Given the description of an element on the screen output the (x, y) to click on. 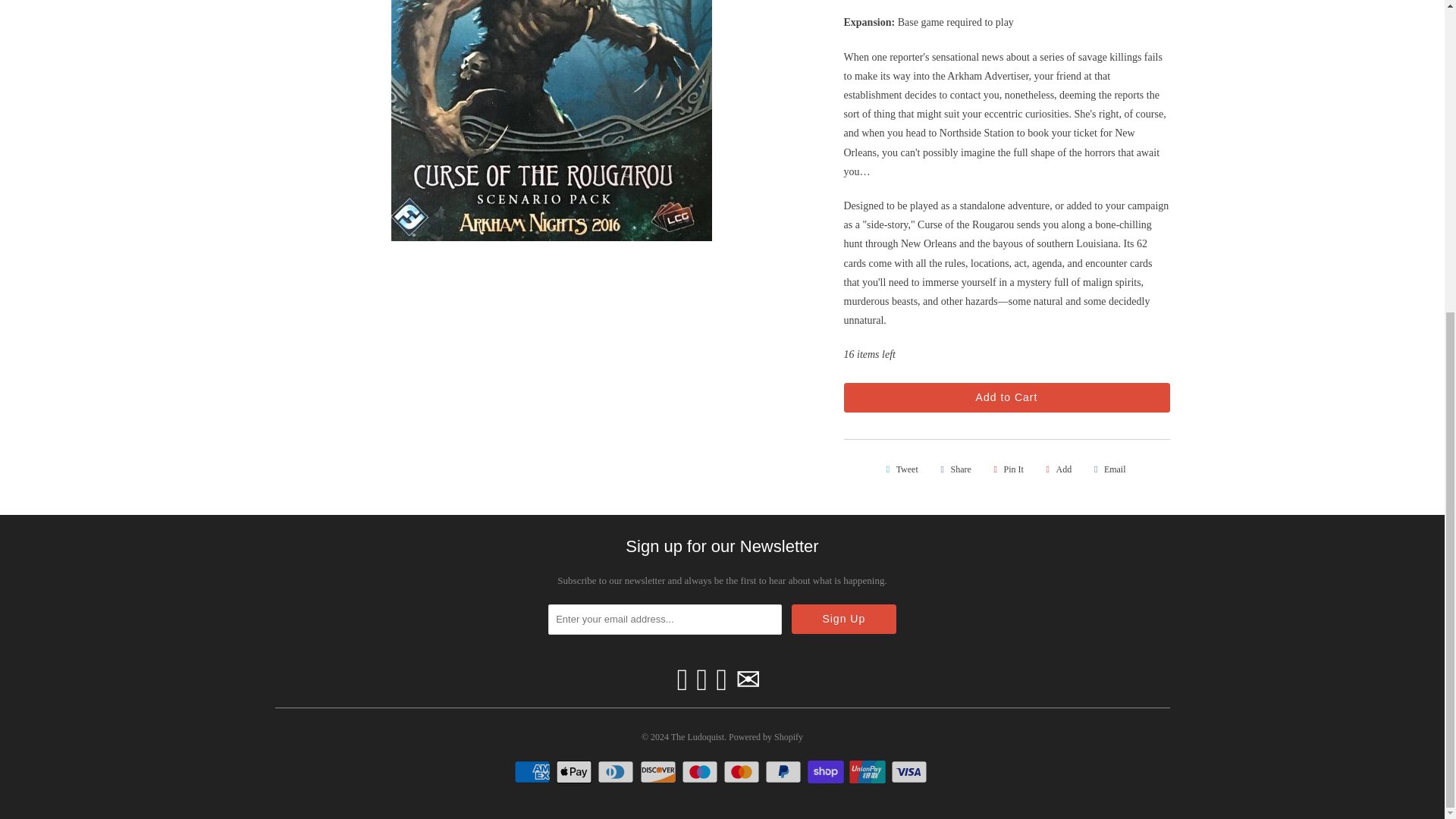
Sign Up (844, 618)
Share this on Facebook (953, 469)
Arkham LCG: Curse of the Rougarou (551, 120)
Share this on Twitter (898, 469)
Share this on Pinterest (1005, 469)
